Given the description of an element on the screen output the (x, y) to click on. 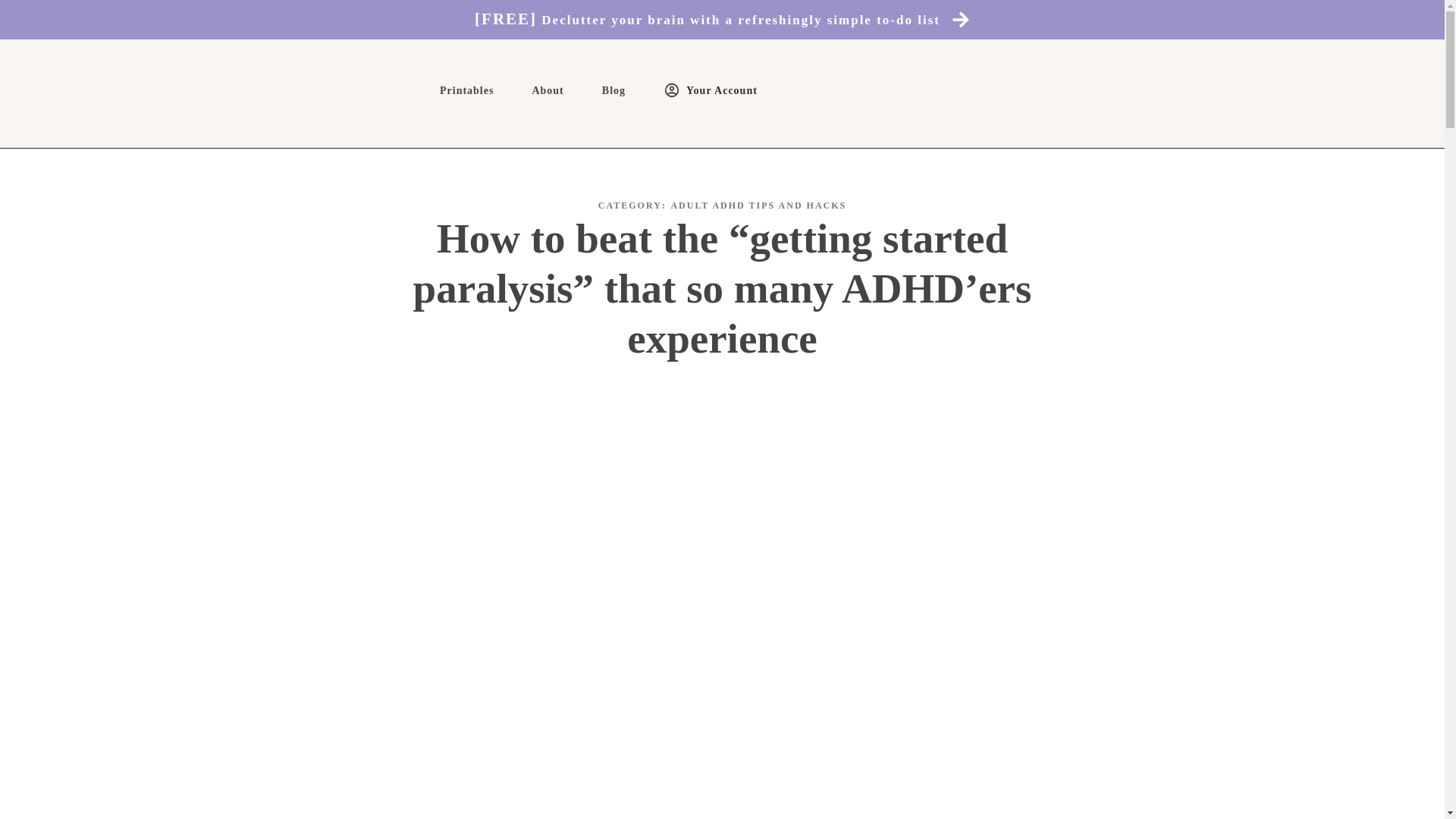
Adult ADHD Tips and Hacks (757, 204)
ADULT ADHD TIPS AND HACKS (757, 204)
Printables (466, 91)
About (547, 91)
Your Account (710, 90)
